Given the description of an element on the screen output the (x, y) to click on. 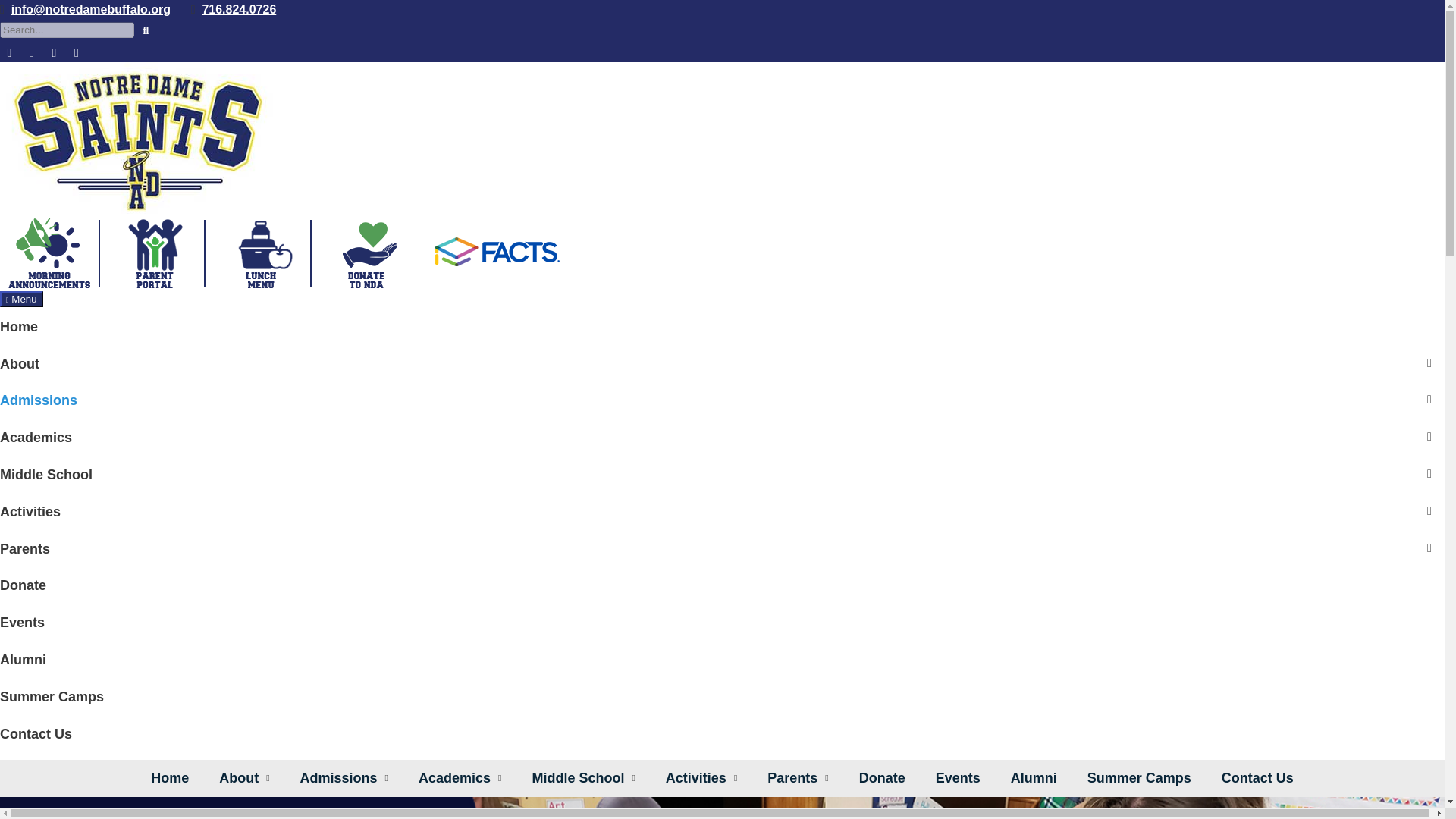
Clear search text (120, 50)
Donate to NDA (368, 251)
Lunch Menu (262, 251)
Parent Portal (156, 251)
716.824.0726 (239, 9)
Facts portal login (497, 251)
About (19, 363)
Home (18, 327)
Admissions (38, 400)
Menu (21, 299)
Academics (35, 437)
Notre Dame Academy - Catholic School - South Buffalo NY (139, 136)
Search (145, 31)
Admissions at Notre Dame Academy Buffalo NY (722, 807)
Media Club Morning Announcements (50, 251)
